Given the description of an element on the screen output the (x, y) to click on. 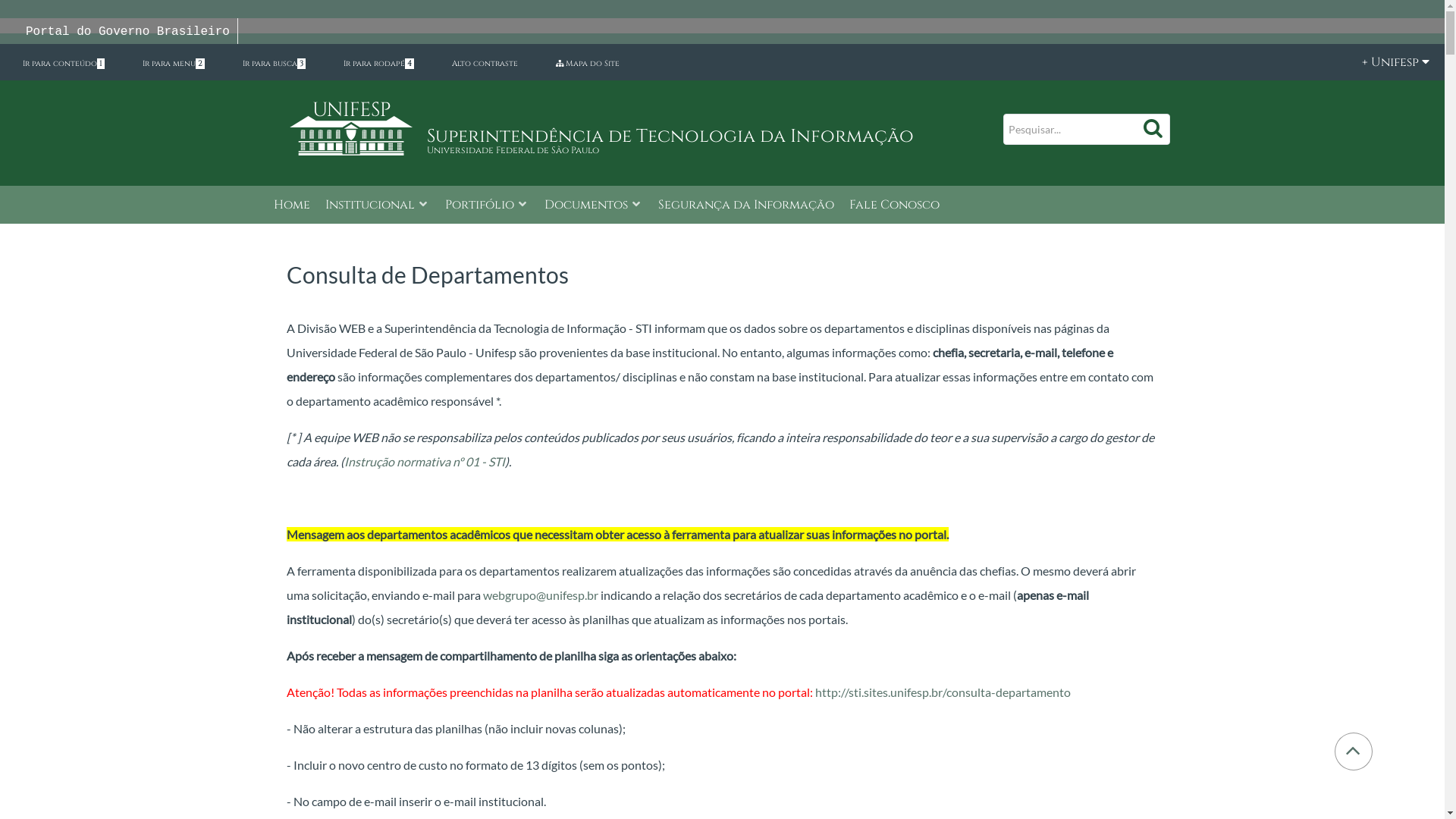
Institucional Element type: text (376, 205)
Ir para menu2 Element type: text (173, 63)
http://sti.sites.unifesp.br/consulta-departamento Element type: text (942, 691)
Fale Conosco Element type: text (894, 205)
+ Unifesp Element type: text (1387, 61)
Portal do Governo Brasileiro Element type: text (127, 31)
Alto contraste Element type: text (484, 63)
Ir para busca3 Element type: text (273, 63)
Documentos Element type: text (593, 205)
webgrupo@unifesp.br Element type: text (539, 594)
Back to top Element type: hover (1353, 751)
Mapa do Site Element type: text (587, 63)
Home Element type: text (291, 205)
